Given the description of an element on the screen output the (x, y) to click on. 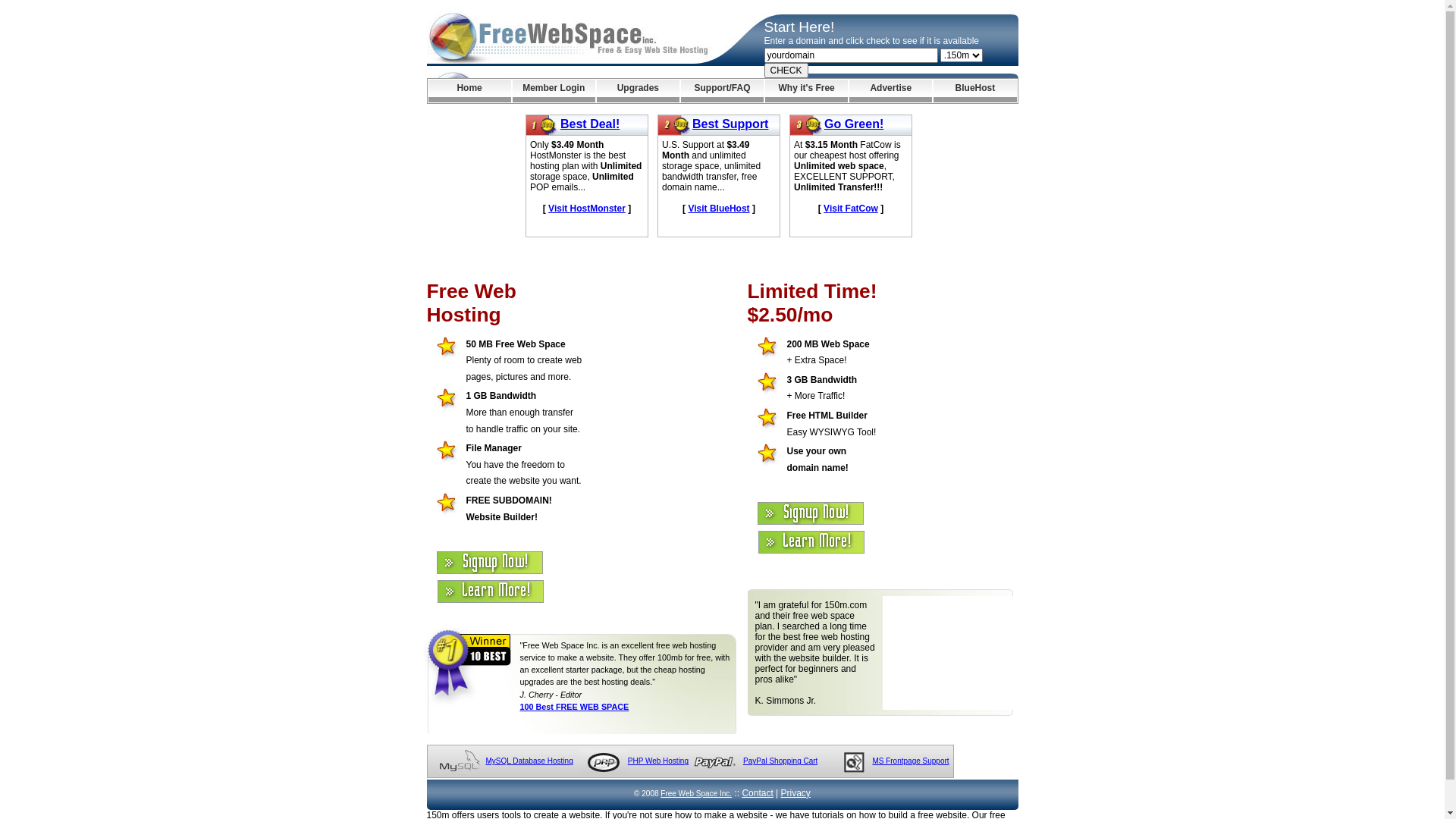
PHP Web Hosting Element type: text (657, 760)
100 Best FREE WEB SPACE Element type: text (574, 706)
MySQL Database Hosting Element type: text (528, 760)
CHECK Element type: text (786, 70)
Advertise Element type: text (890, 90)
MS Frontpage Support Element type: text (910, 760)
BlueHost Element type: text (974, 90)
Contact Element type: text (756, 792)
Upgrades Element type: text (637, 90)
Privacy Element type: text (795, 792)
Why it's Free Element type: text (806, 90)
Member Login Element type: text (553, 90)
Free Web Space Inc. Element type: text (695, 793)
Home Element type: text (468, 90)
Support/FAQ Element type: text (721, 90)
PayPal Shopping Cart Element type: text (780, 760)
